Given the description of an element on the screen output the (x, y) to click on. 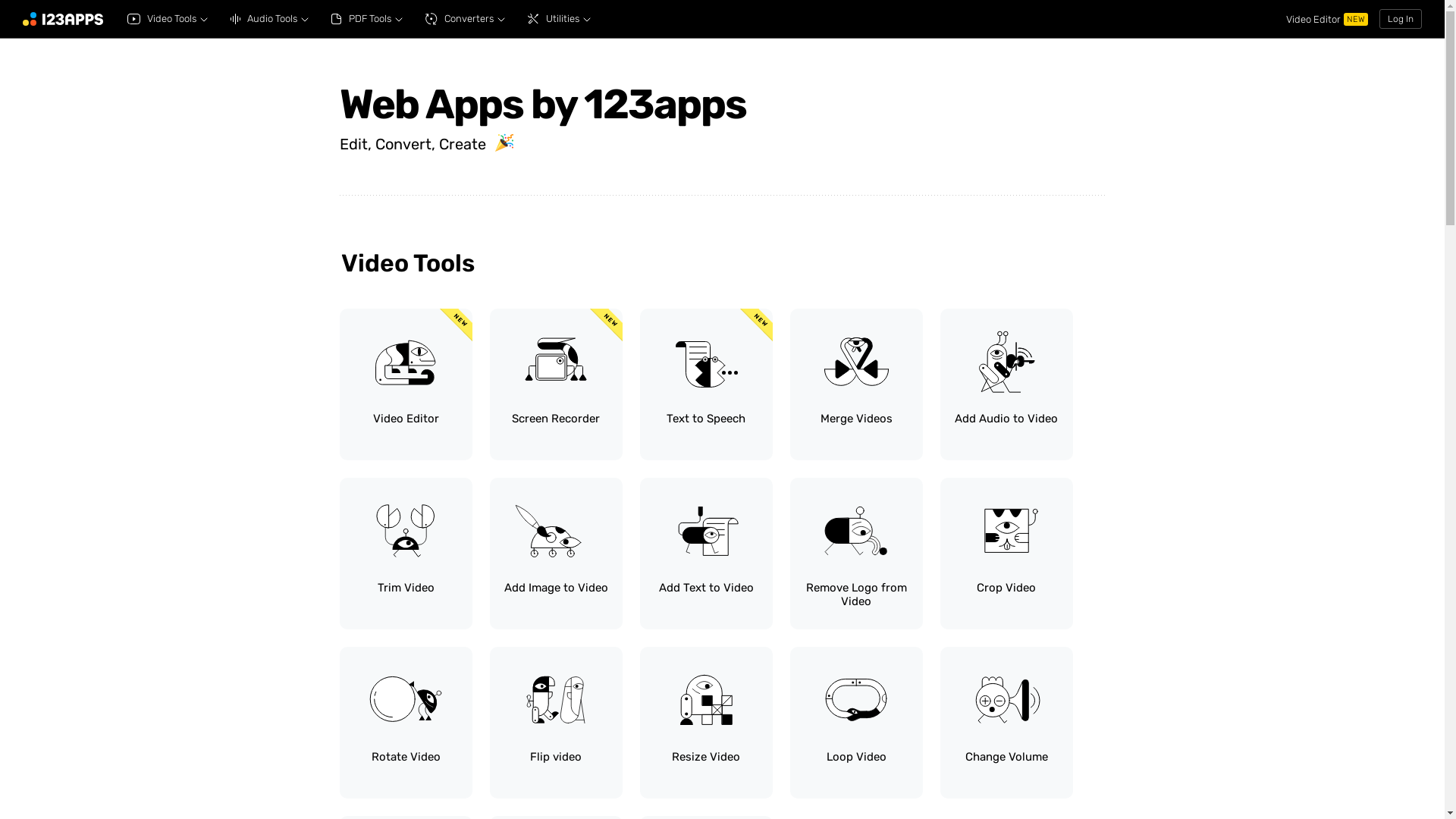
Converters Element type: text (465, 18)
Video Tools Element type: text (167, 18)
Trim Video Element type: text (405, 553)
Change Volume Element type: text (1006, 722)
Add Audio to Video Element type: text (1006, 384)
Merge Videos Element type: text (856, 384)
Audio Tools Element type: text (269, 18)
Crop Video Element type: text (1006, 553)
Resize Video Element type: text (706, 722)
Loop Video Element type: text (856, 722)
Add Image to Video Element type: text (555, 553)
Utilities Element type: text (559, 18)
Add Text to Video Element type: text (706, 553)
Flip video Element type: text (555, 722)
Video EditorNEW Element type: text (1327, 18)
NEW
Video Editor Element type: text (405, 384)
Log In Element type: text (1400, 18)
NEW
Text to Speech Element type: text (706, 384)
PDF Tools Element type: text (367, 18)
Remove Logo from Video Element type: text (856, 553)
NEW
Screen Recorder Element type: text (555, 384)
Rotate Video Element type: text (405, 722)
